Given the description of an element on the screen output the (x, y) to click on. 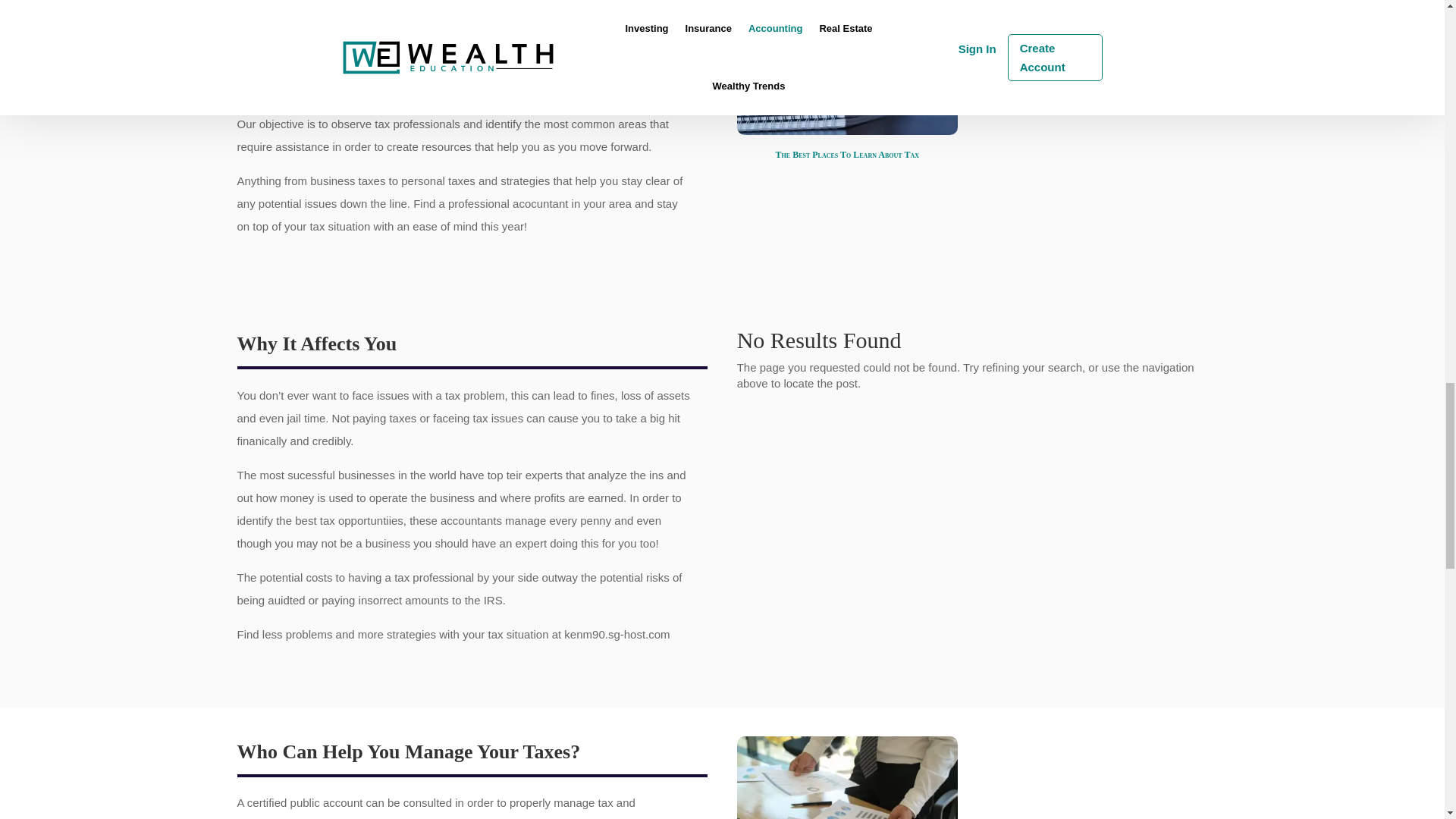
What Does An Accountant Do? (847, 777)
The Best Places To Learn About Tax (847, 154)
The Best Places To Learn About Tax (847, 67)
